Given the description of an element on the screen output the (x, y) to click on. 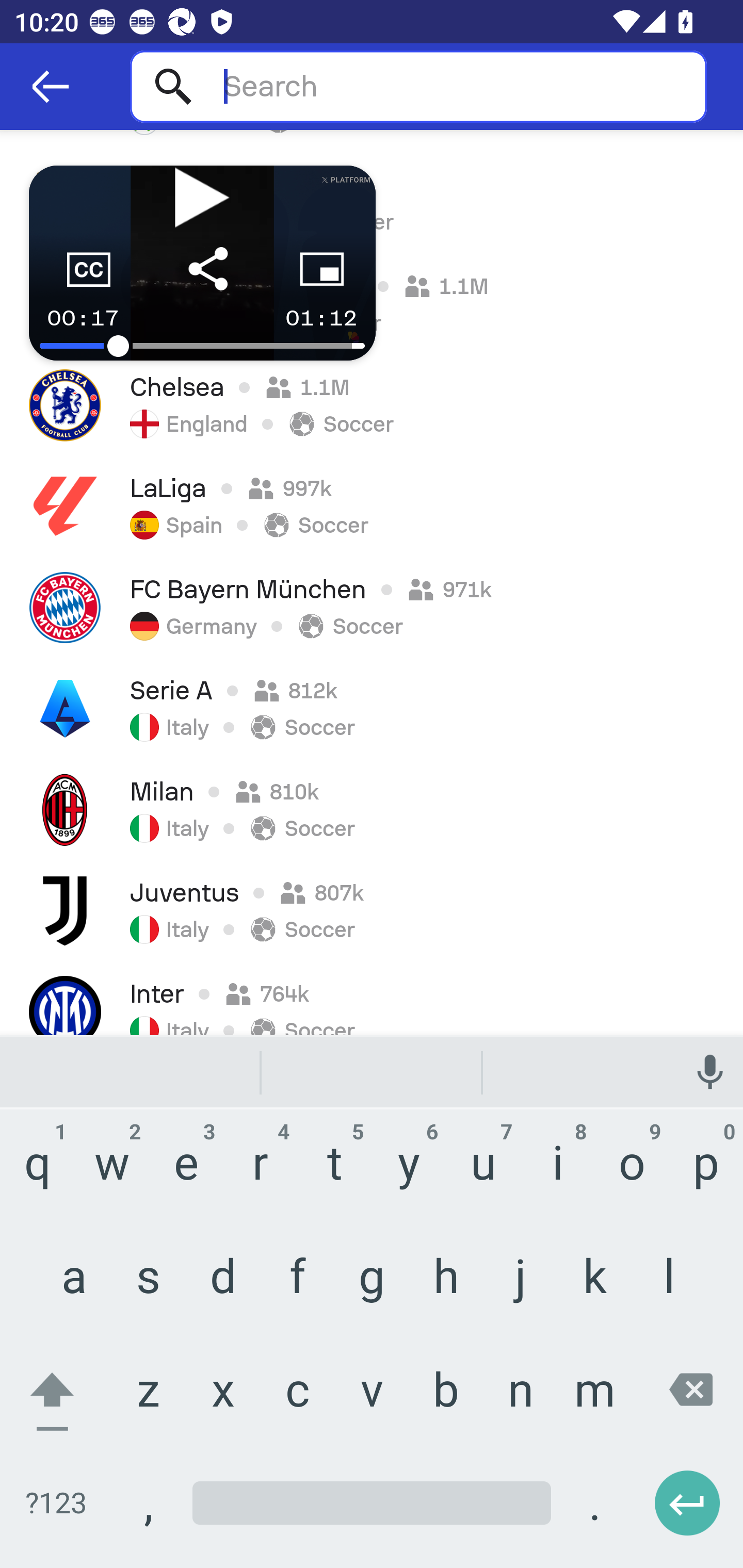
Navigate up (50, 86)
Search (418, 86)
Chelsea 1.1M England Soccer (371, 405)
LaLiga 997k Spain Soccer (371, 506)
FC Bayern München 971k Germany Soccer (371, 607)
Serie A 812k Italy Soccer (371, 708)
Milan 810k Italy Soccer (371, 809)
Juventus 807k Italy Soccer (371, 910)
Inter 764k Italy Soccer (371, 997)
